Given the description of an element on the screen output the (x, y) to click on. 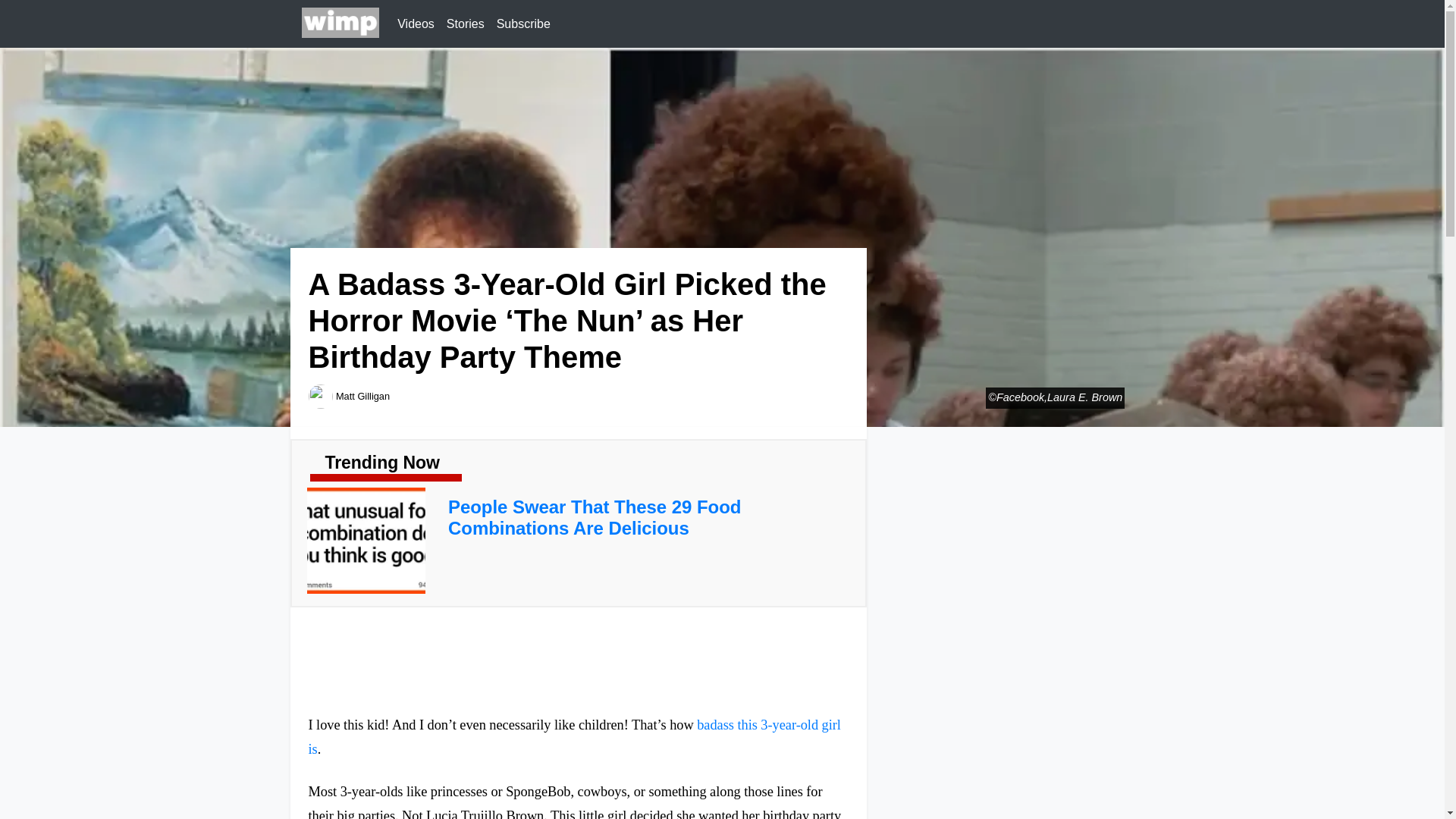
People Swear That These 29 Food Combinations Are Delicious (594, 517)
badass this 3-year-old girl is (573, 736)
Subscribe (523, 24)
Stories (465, 24)
Posts by Matt Gilligan (363, 396)
Videos (416, 24)
Wimp (340, 23)
Matt Gilligan (363, 396)
